Given the description of an element on the screen output the (x, y) to click on. 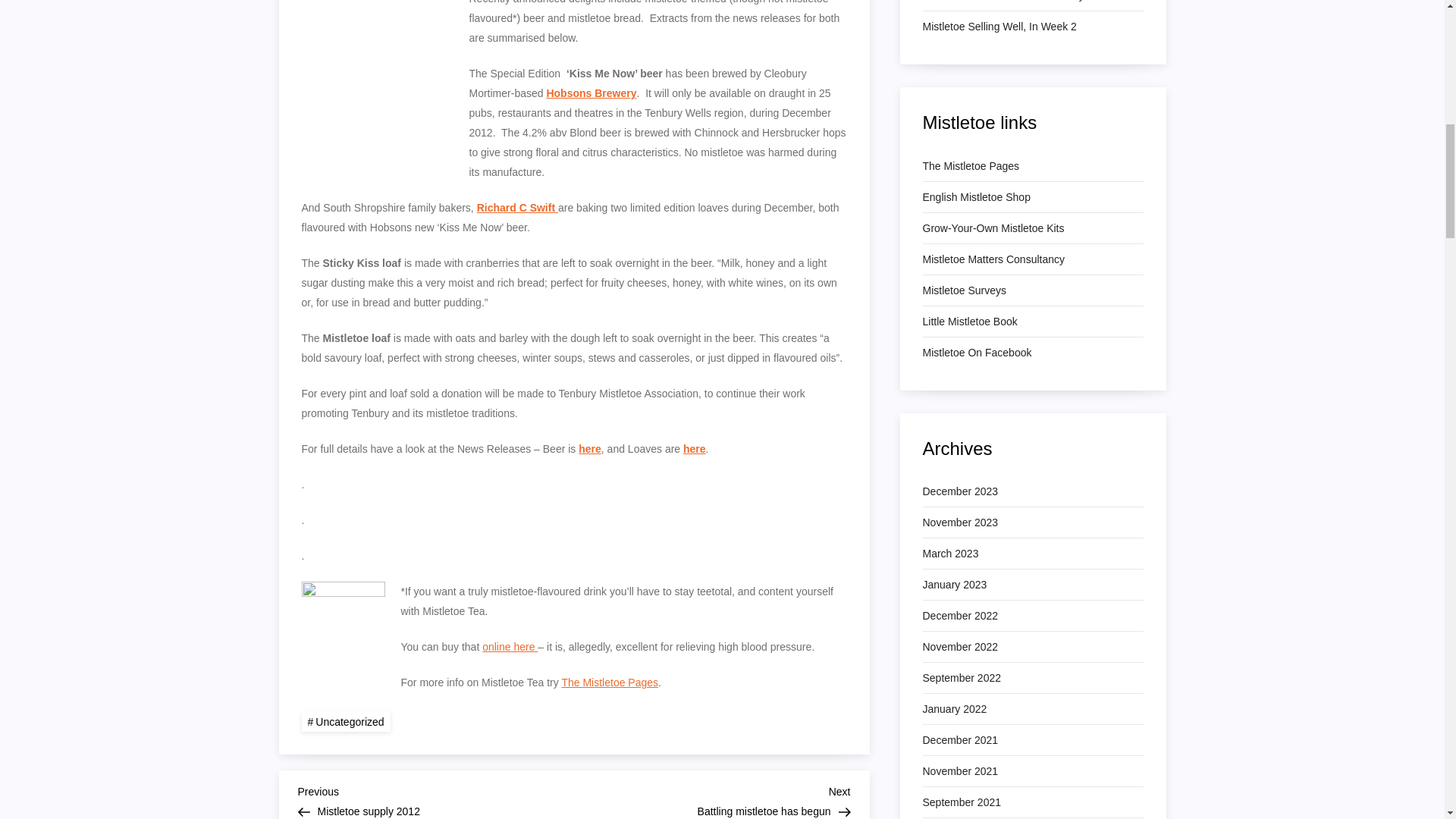
MistleGO! A New Mistletoe Survey Launched! (711, 799)
English Mistletoe Shop (1028, 2)
Mistletoe On Facebook (975, 197)
The Mistletoe Pages (975, 352)
Little Mistletoe Book (970, 166)
here (968, 321)
September 2022 (589, 449)
here (961, 677)
November 2022 (694, 449)
